Given the description of an element on the screen output the (x, y) to click on. 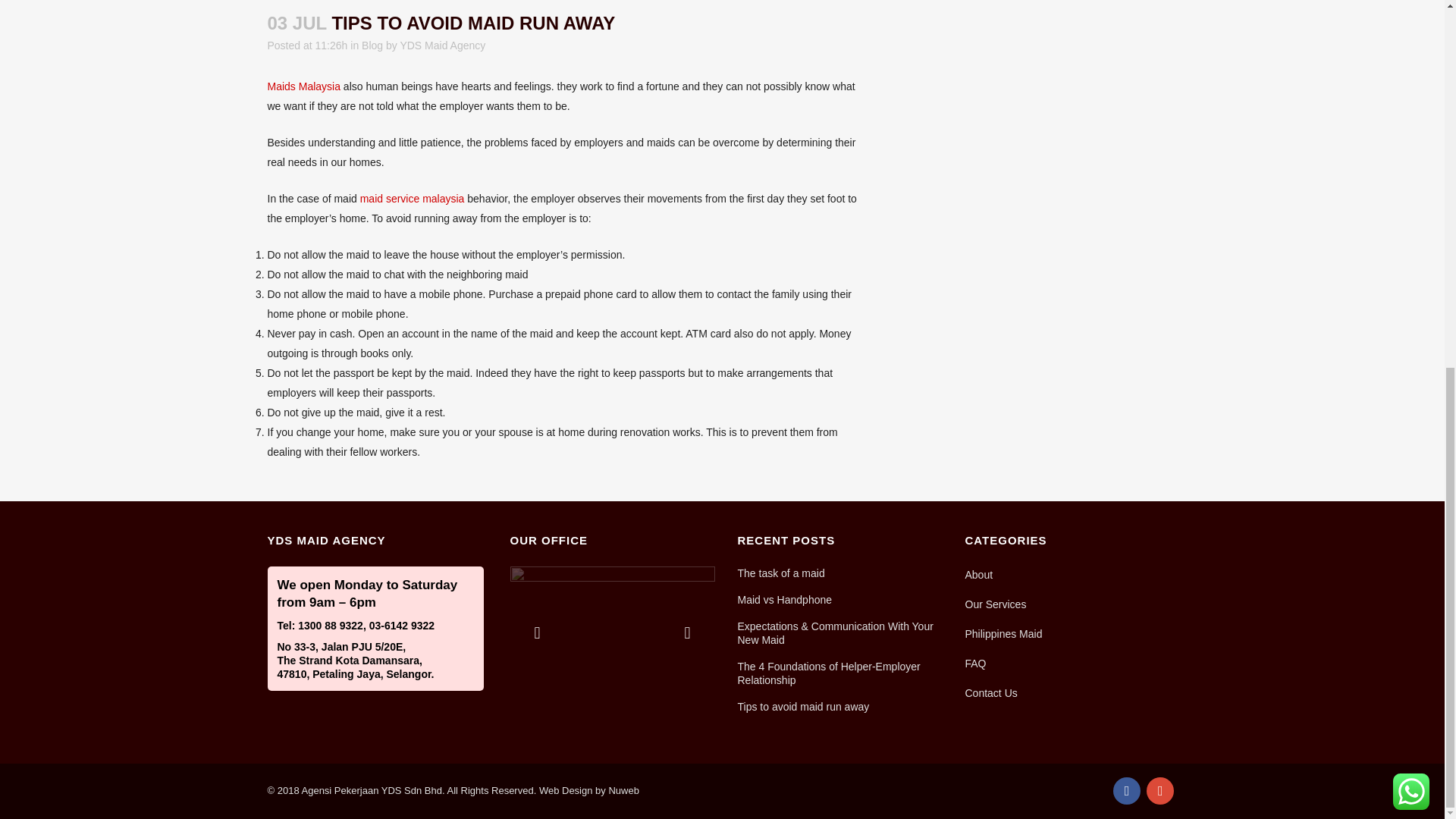
maid service malaysia (411, 198)
Maids Malaysia (302, 86)
YDS Maid Agency (441, 45)
Blog (371, 45)
The task of a maid (840, 572)
About (1069, 574)
Tips to avoid maid run away (840, 706)
Maid vs Handphone (840, 599)
The 4 Foundations of Helper-Employer Relationship (840, 673)
Web Design (588, 790)
